Given the description of an element on the screen output the (x, y) to click on. 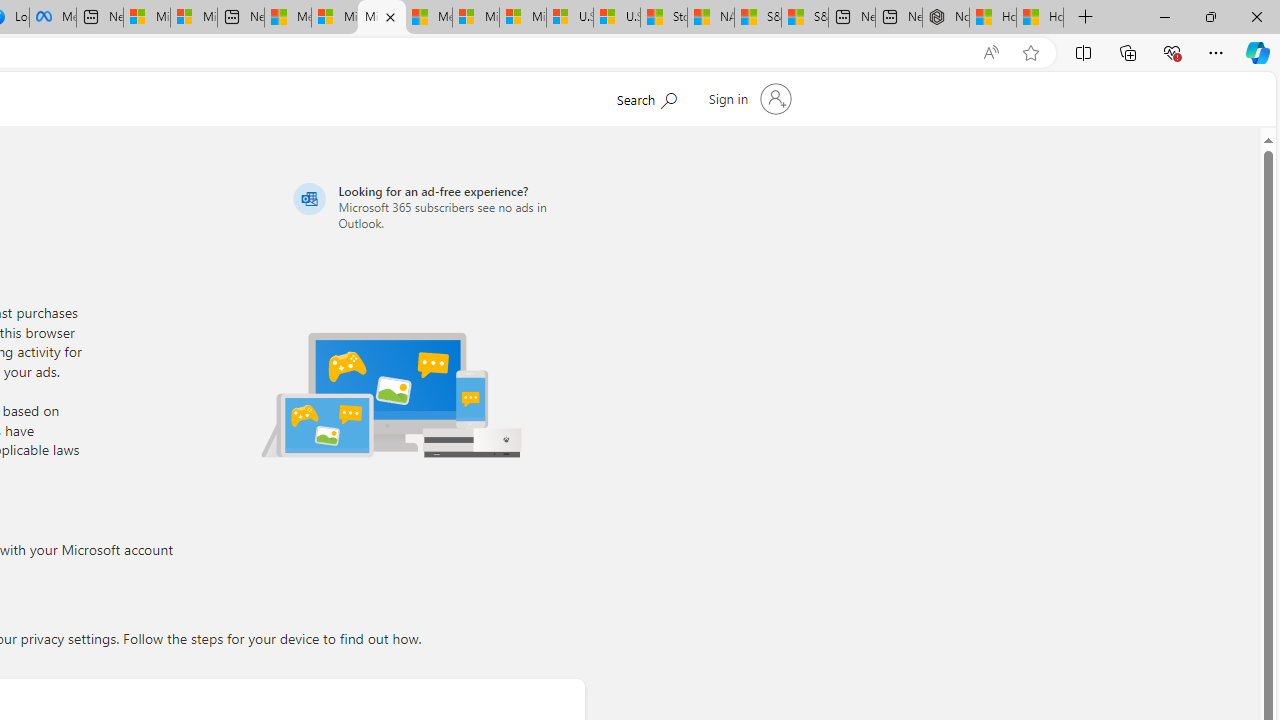
Sign in to your account (748, 98)
Collections (1128, 52)
New Tab (1085, 17)
Close (1256, 16)
Restore (1210, 16)
New tab (898, 17)
Browser essentials (1171, 52)
How to Use a Monitor With Your Closed Laptop (1040, 17)
Add this page to favorites (Ctrl+D) (1030, 53)
Illustration of multiple devices (391, 394)
Read aloud this page (Ctrl+Shift+U) (991, 53)
Settings and more (Alt+F) (1215, 52)
